Given the description of an element on the screen output the (x, y) to click on. 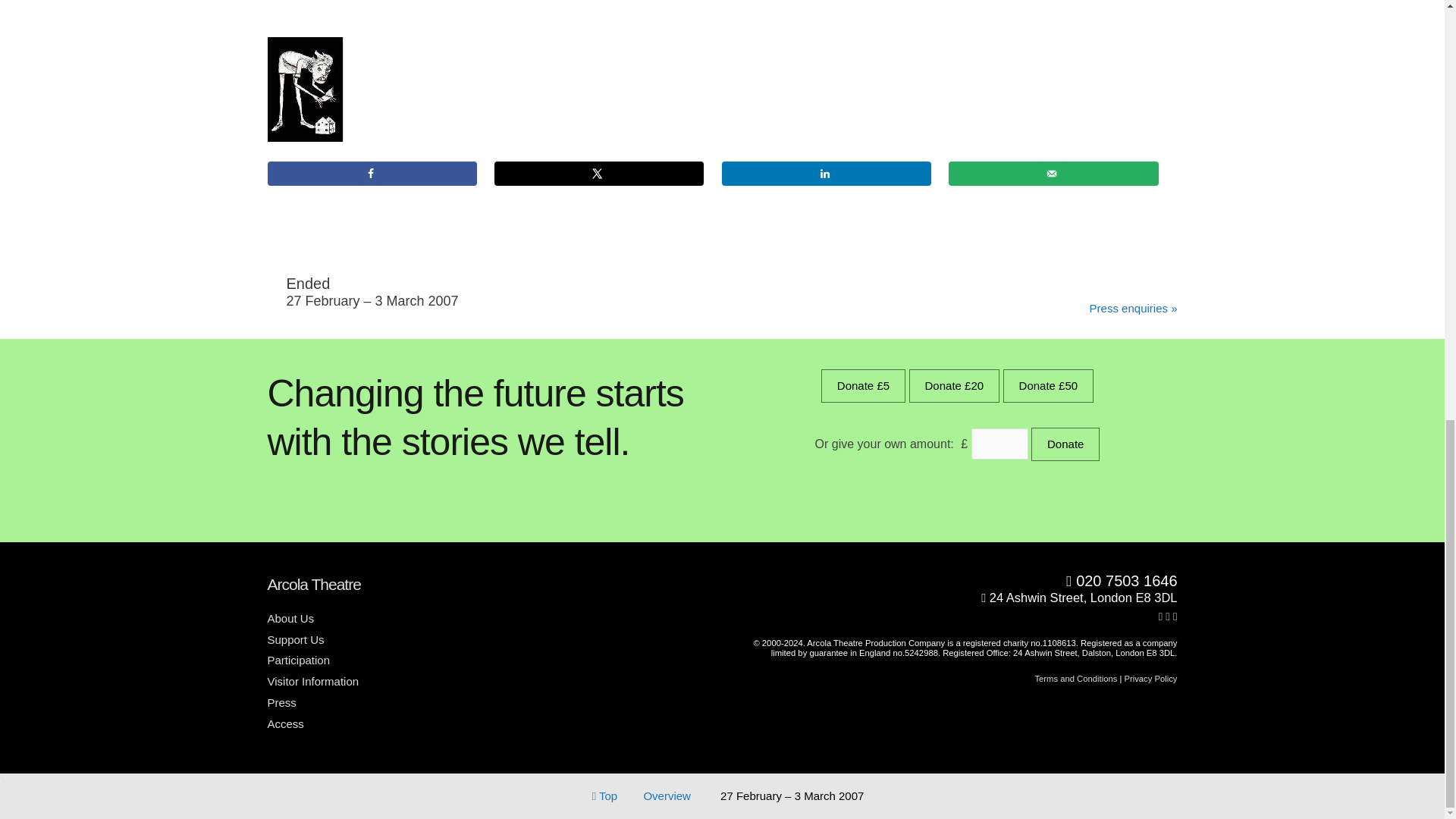
Share on LinkedIn (826, 173)
About Us (295, 617)
020 7503 1646 (956, 581)
Send over email (1053, 173)
Visitor Information (317, 680)
Share on Facebook (371, 173)
Press (286, 702)
Participation (303, 659)
Support Us (300, 639)
Access (290, 723)
Donate (1064, 444)
Share on X (599, 173)
